Given the description of an element on the screen output the (x, y) to click on. 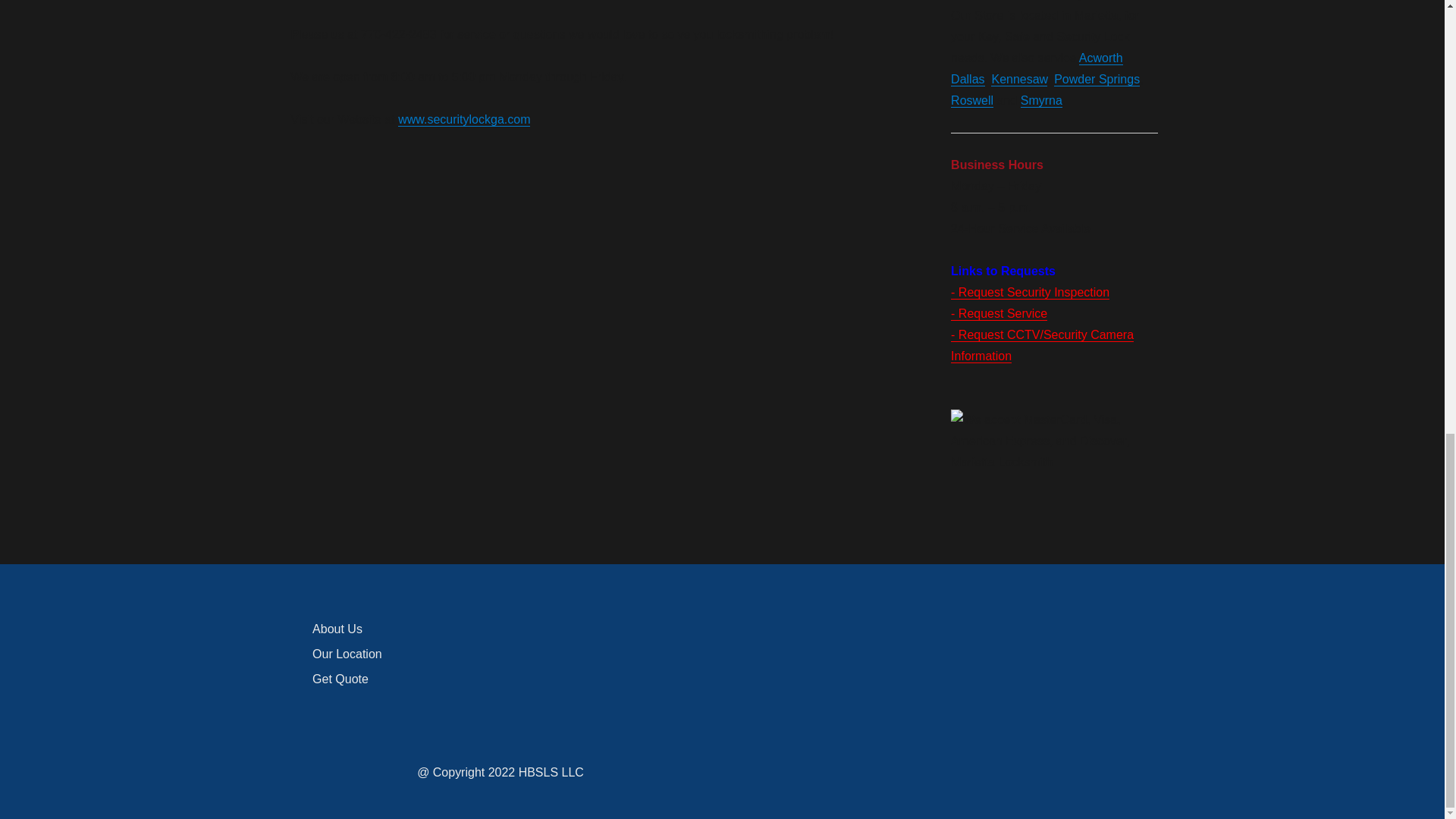
Acworth (1100, 57)
Smyrna (1041, 100)
www.securitylockga.com (463, 119)
Roswell (971, 100)
About Us (337, 628)
- Request Security Inspection (1029, 291)
Dallas (967, 78)
- Request Service (998, 313)
Our Location (347, 653)
Kennesaw (1018, 78)
